Given the description of an element on the screen output the (x, y) to click on. 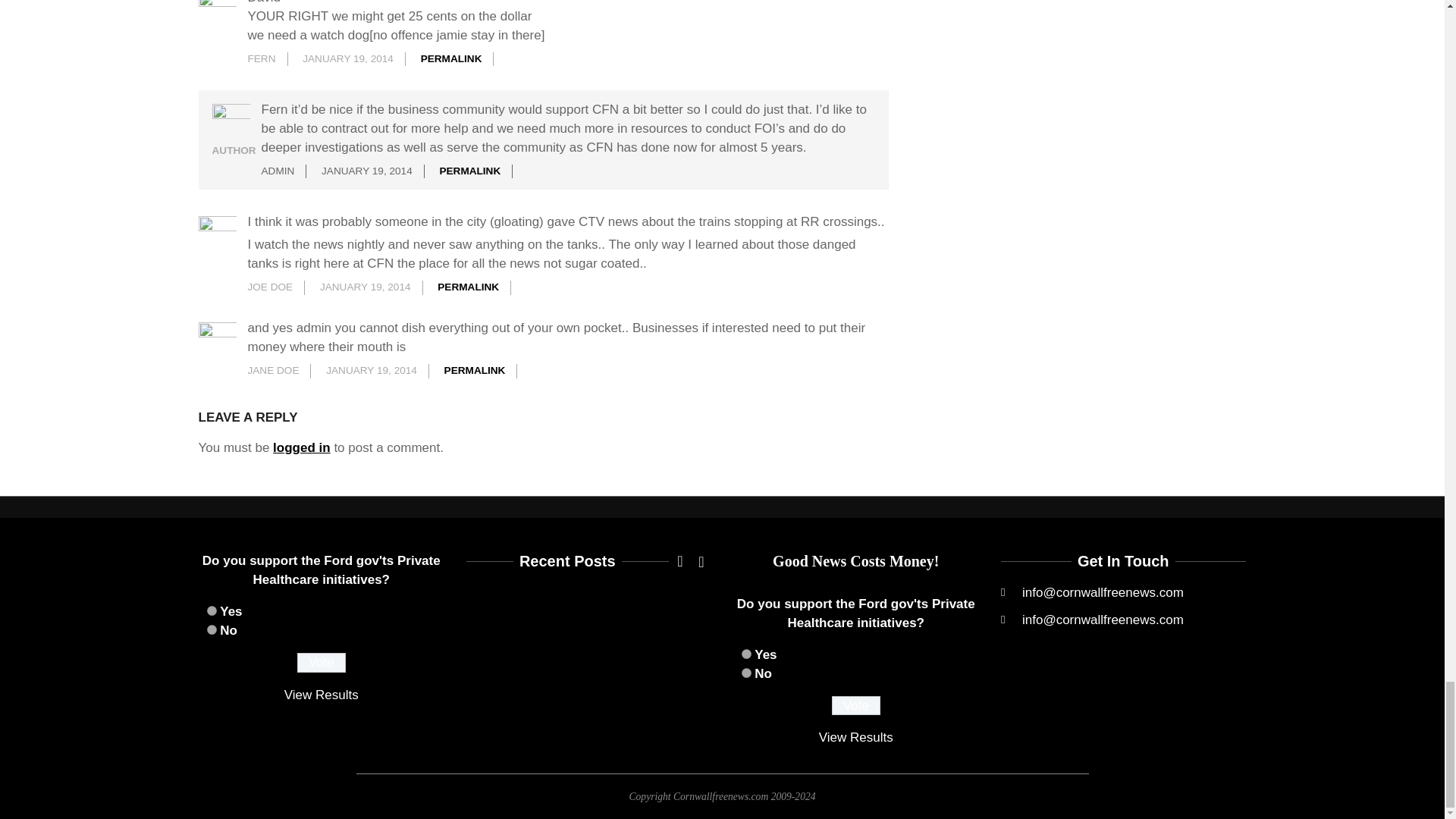
1776 (210, 610)
Sunday, January 19, 2014, 3:47 pm (347, 58)
Sunday, January 19, 2014, 6:40 pm (371, 369)
   Vote    (855, 705)
   Vote    (321, 662)
Sunday, January 19, 2014, 4:39 pm (366, 170)
Sunday, January 19, 2014, 6:37 pm (365, 286)
1777 (210, 629)
1776 (746, 654)
1777 (746, 673)
